Given the description of an element on the screen output the (x, y) to click on. 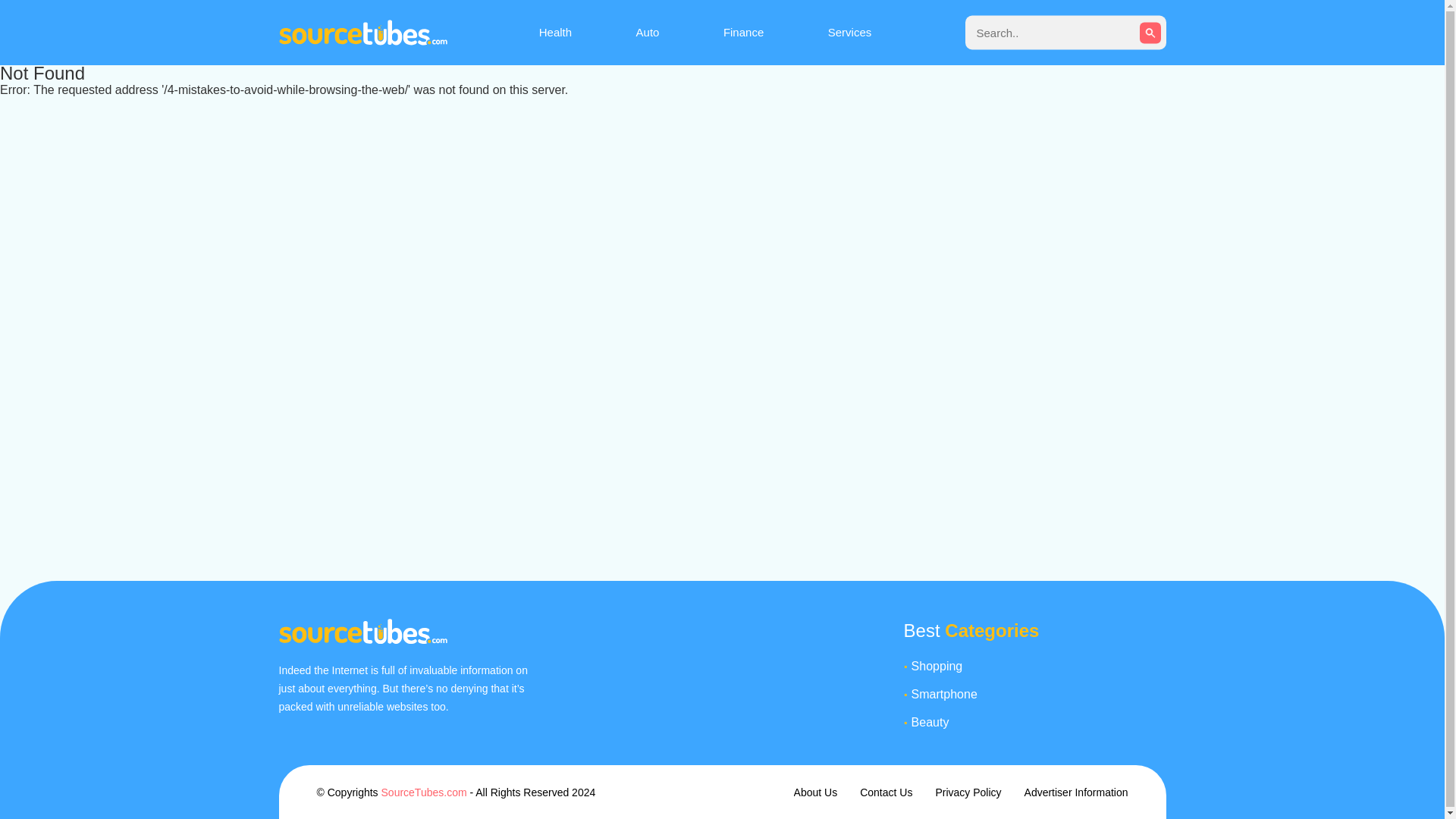
Health (555, 31)
Finance (742, 31)
Advertiser Information (1076, 792)
Beauty (1038, 722)
Smartphone (1038, 694)
Auto (647, 31)
Services (850, 31)
Shopping (1038, 666)
Privacy Policy (967, 792)
Contact Us (886, 792)
About Us (815, 792)
